Given the description of an element on the screen output the (x, y) to click on. 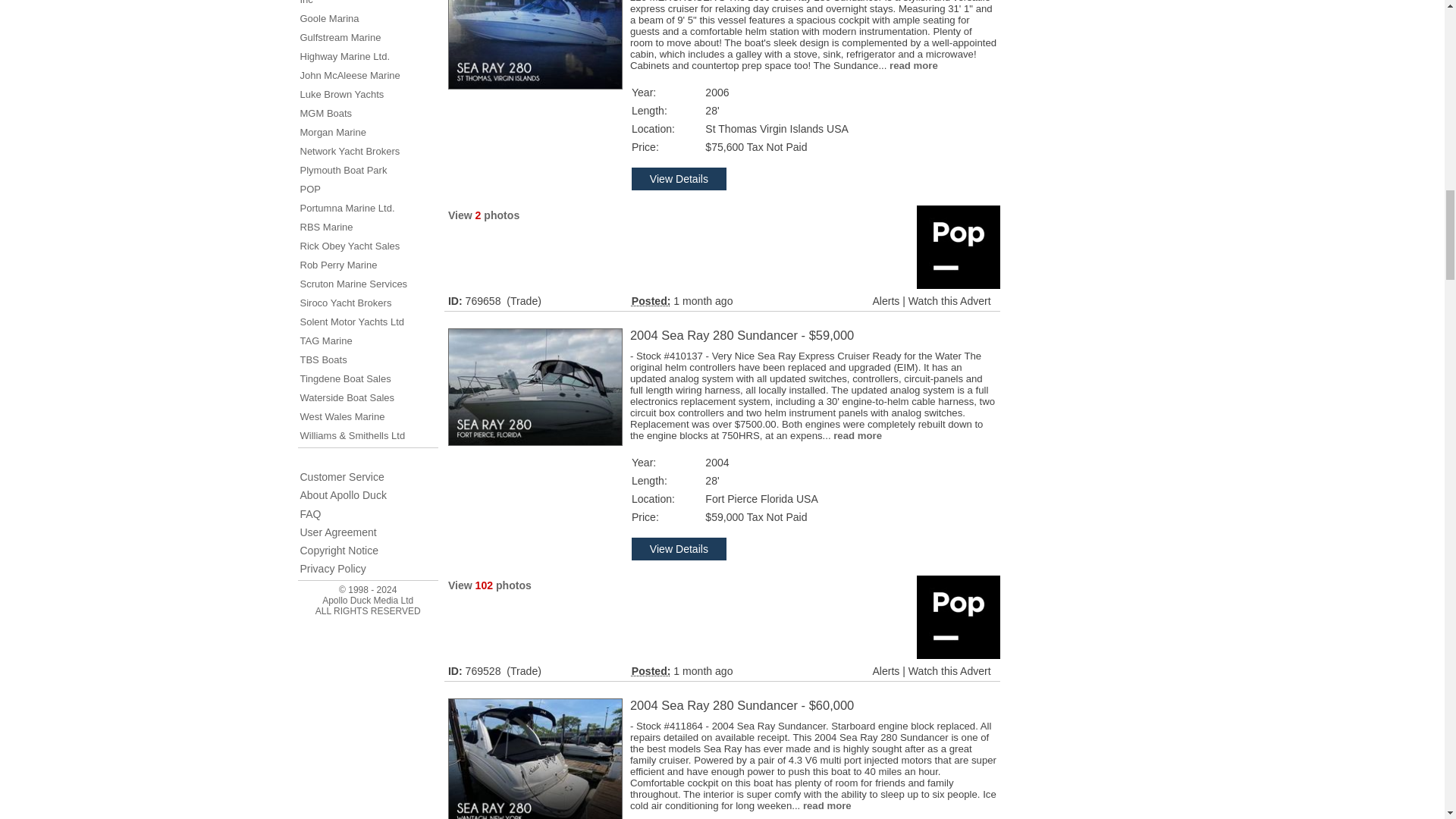
Luke Brown Yachts, USA (341, 93)
John McAleese Marine, UK (349, 75)
Highway Marine Ltd., UK (344, 56)
Gulfstream Marine, UK (340, 37)
Goole Marina, UK (329, 18)
